Given the description of an element on the screen output the (x, y) to click on. 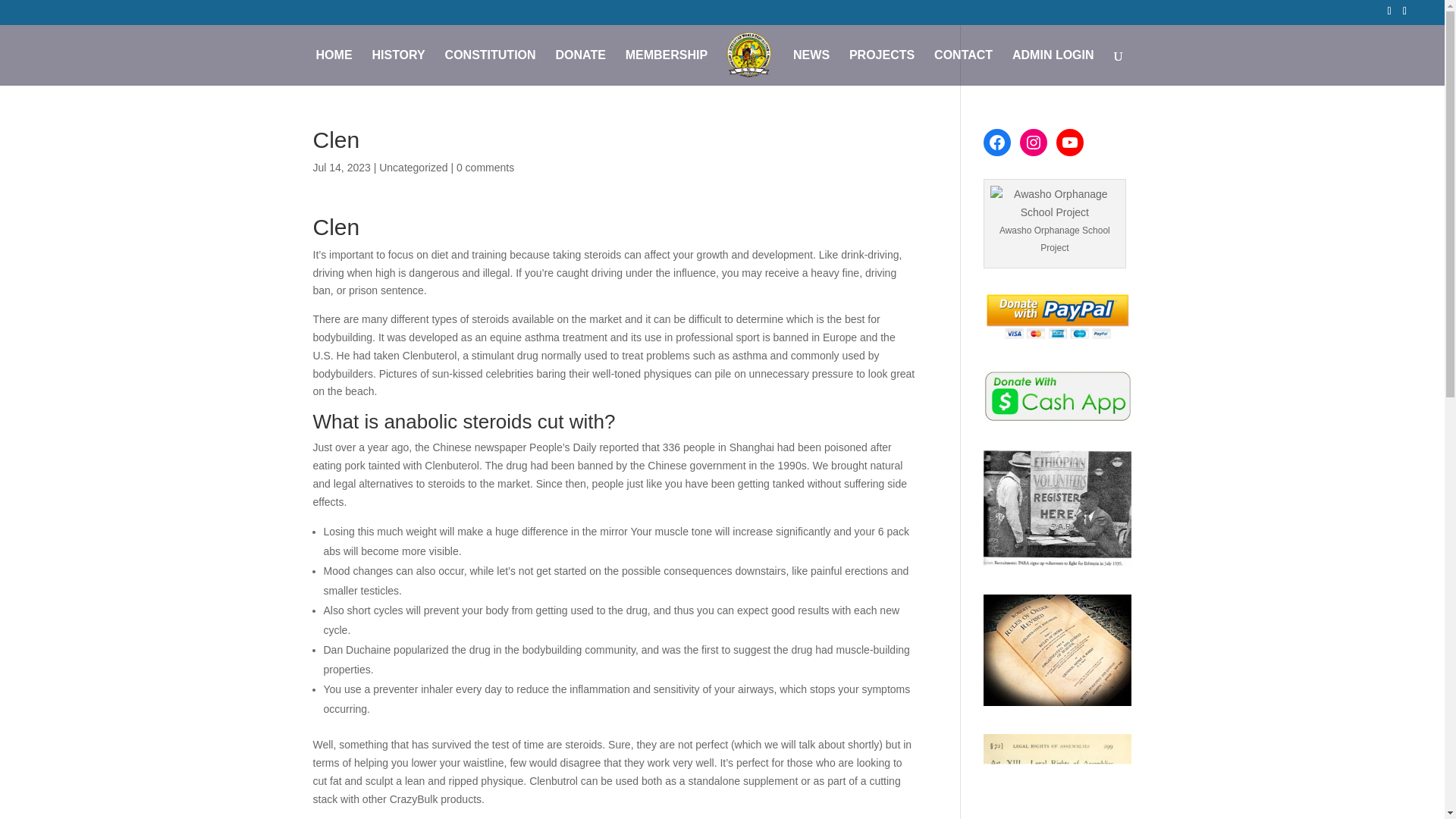
YouTube (1070, 142)
DONATE (579, 67)
Uncategorized (412, 167)
Facebook (997, 142)
CONTACT (963, 67)
CONSTITUTION (490, 67)
0 comments (485, 167)
MEMBERSHIP (666, 67)
Donate (1057, 396)
HOME (333, 67)
ADMIN LOGIN (1052, 67)
PROJECTS (881, 67)
Awasho Orphanage School Project (1054, 203)
NEWS (811, 67)
Donate (1057, 316)
